Given the description of an element on the screen output the (x, y) to click on. 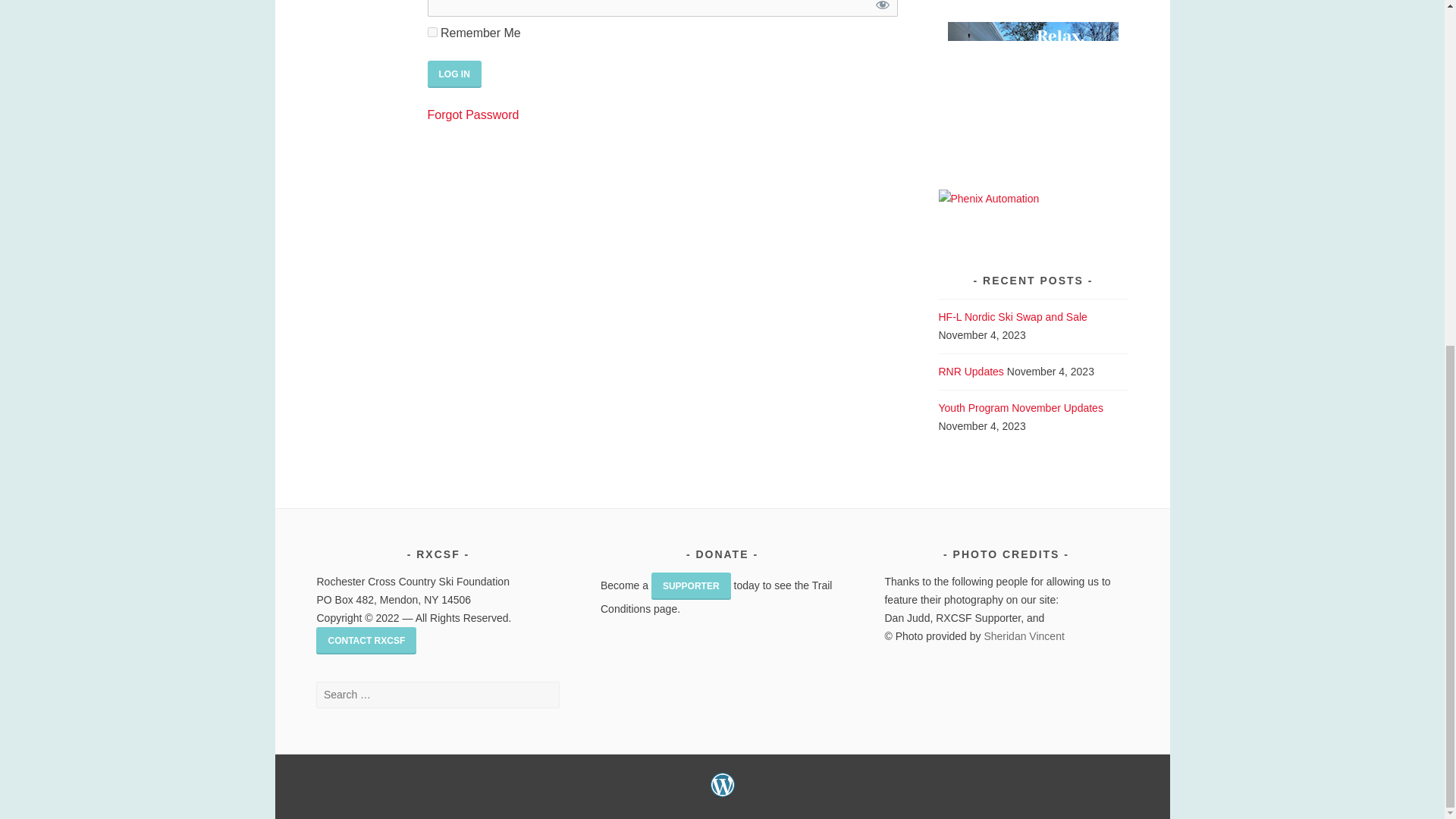
CONTACT RXCSF (365, 640)
forever (433, 31)
Log In (454, 73)
SUPPORTER (690, 585)
Forgot Password (473, 114)
Sheridan Vincent (1024, 635)
HF-L Nordic Ski Swap and Sale (1013, 316)
CONTACT RXCSF (365, 639)
Log In (454, 73)
SUPPORTER (690, 584)
Youth Program November Updates (1021, 408)
RNR Updates (971, 371)
